Given the description of an element on the screen output the (x, y) to click on. 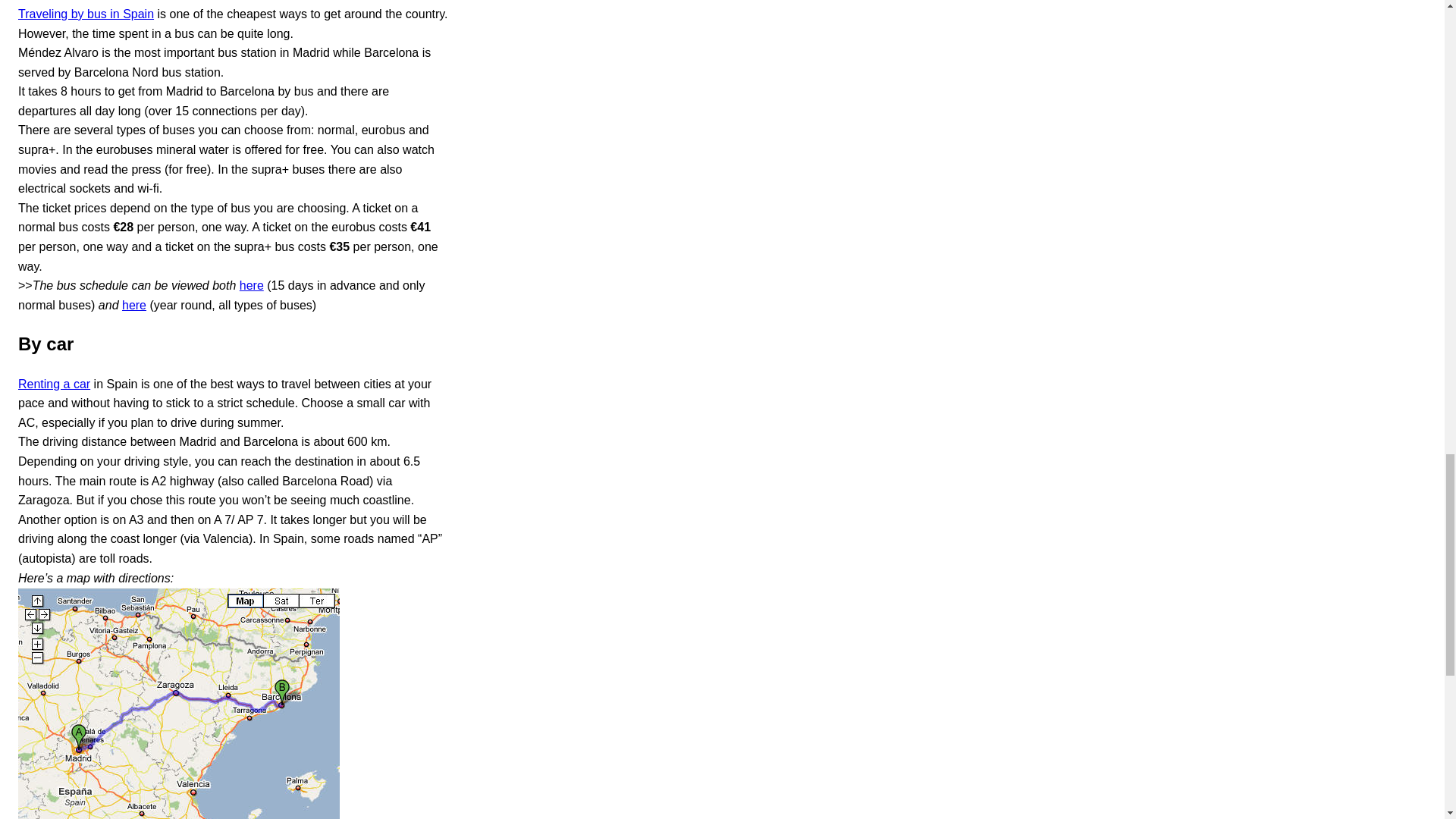
here (251, 285)
here (134, 305)
Renting a car (53, 383)
Traveling by bus in Spain (85, 13)
